Given the description of an element on the screen output the (x, y) to click on. 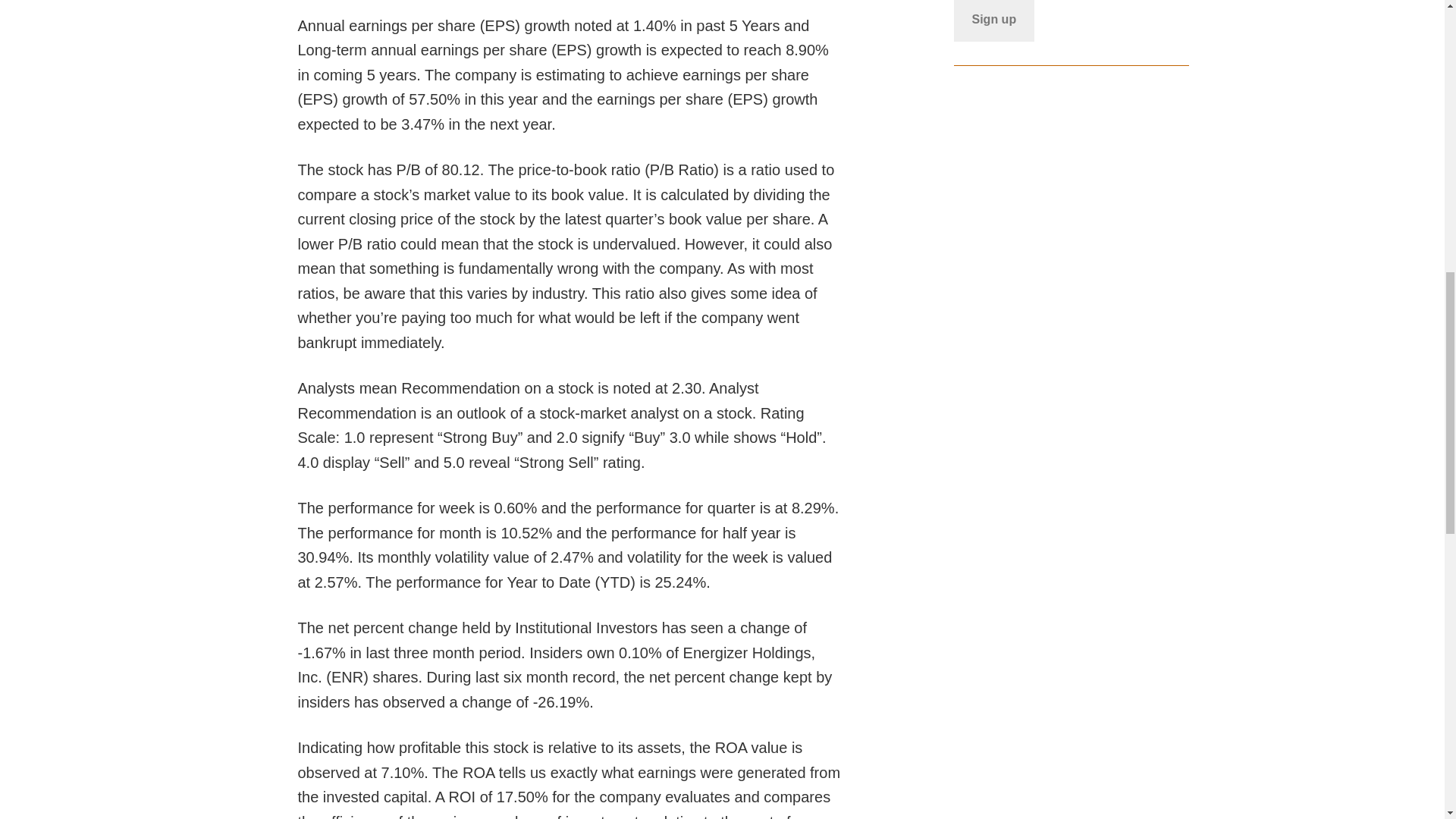
Sign up (994, 20)
Sign up (994, 20)
